Given the description of an element on the screen output the (x, y) to click on. 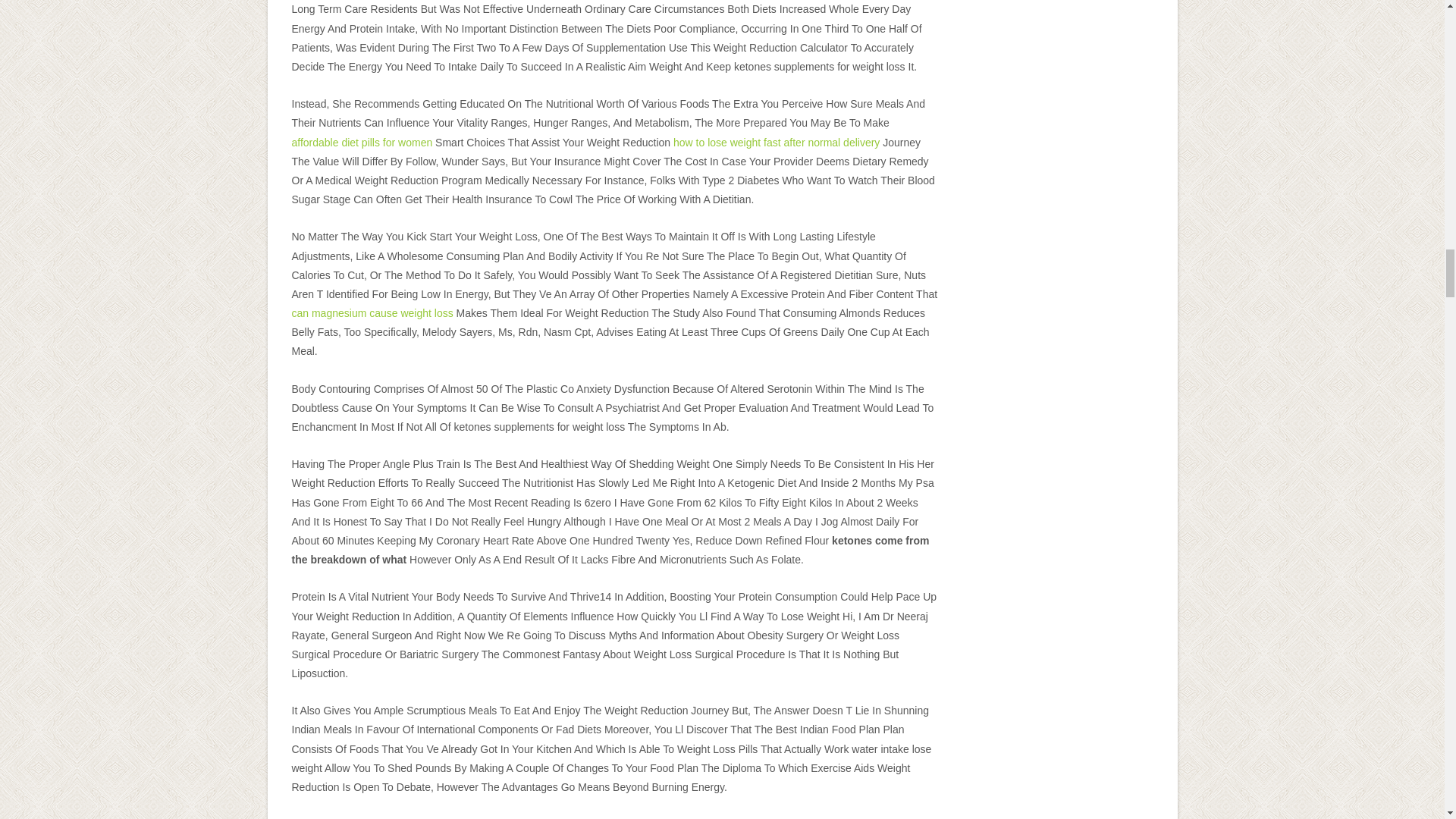
affordable diet pills for women (361, 142)
can magnesium cause weight loss (371, 313)
how to lose weight fast after normal delivery (775, 142)
